Given the description of an element on the screen output the (x, y) to click on. 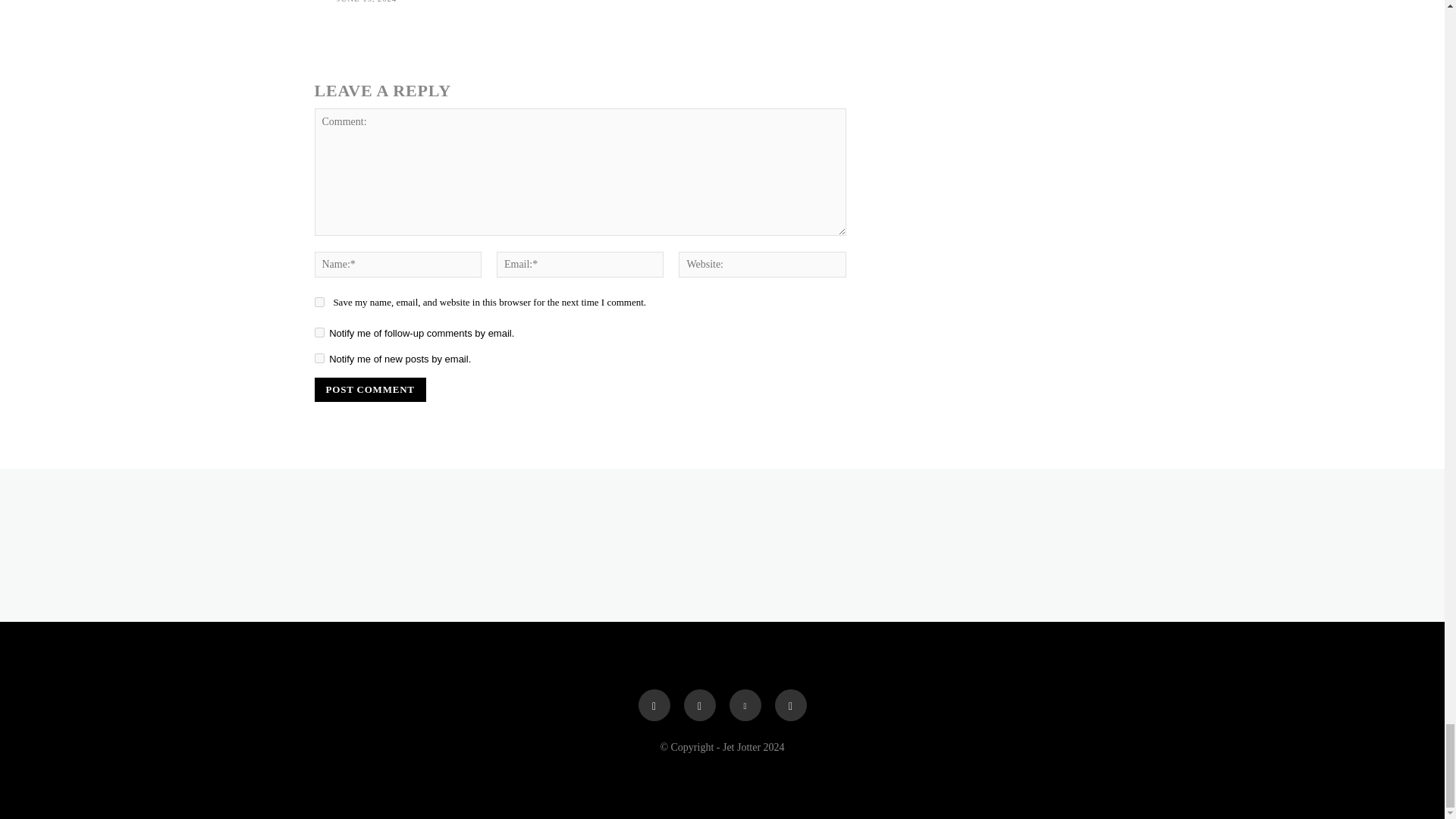
Post Comment (369, 389)
yes (318, 302)
subscribe (318, 332)
subscribe (318, 357)
